Given the description of an element on the screen output the (x, y) to click on. 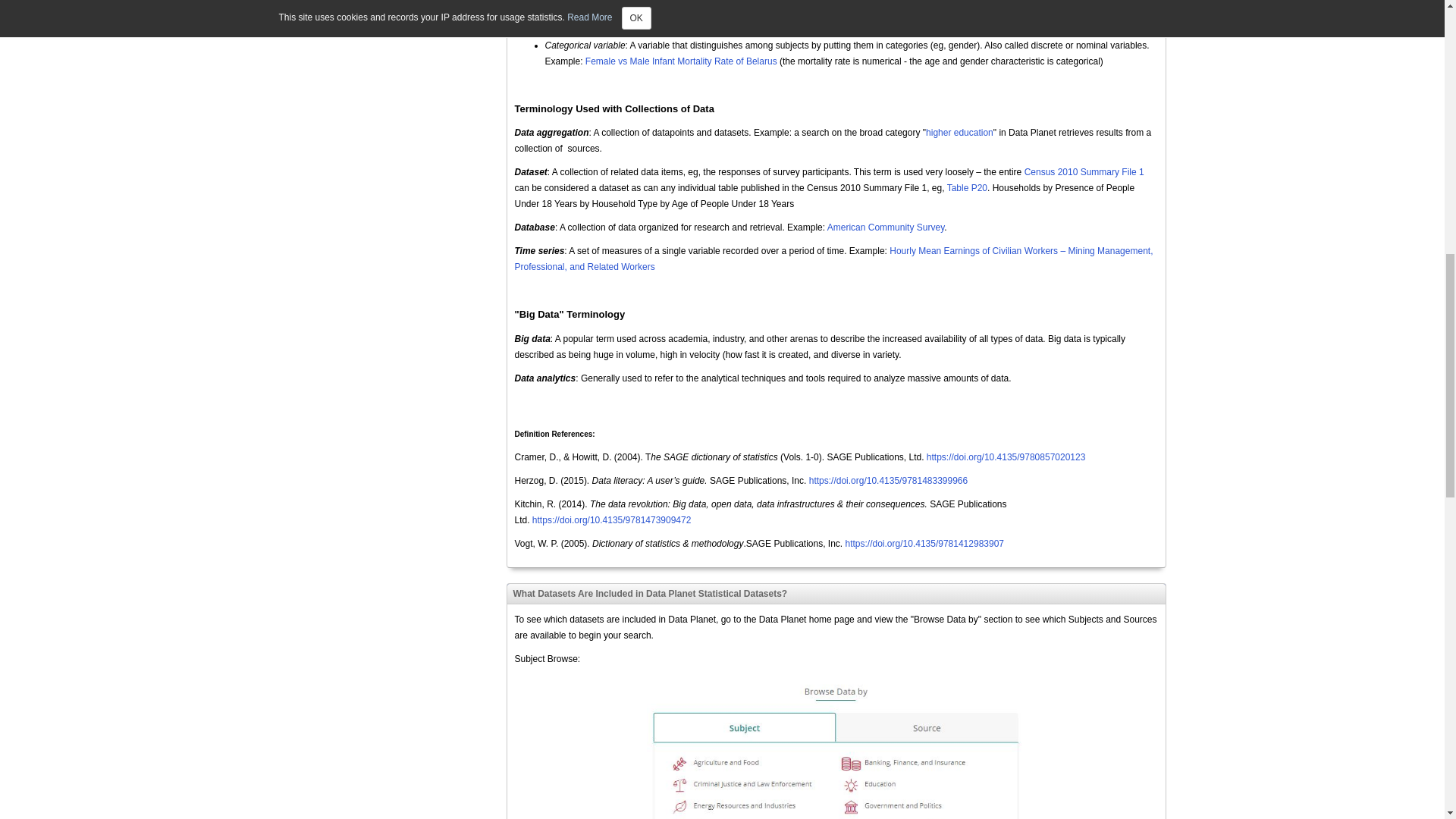
American Community Survey (885, 226)
Census 2010 Summary File 1 (1084, 172)
Bank Prime Loan Rate (981, 29)
Table P20 (967, 187)
higher education (959, 132)
Female vs Male Infant Mortality Rate of Belarus (681, 61)
